Given the description of an element on the screen output the (x, y) to click on. 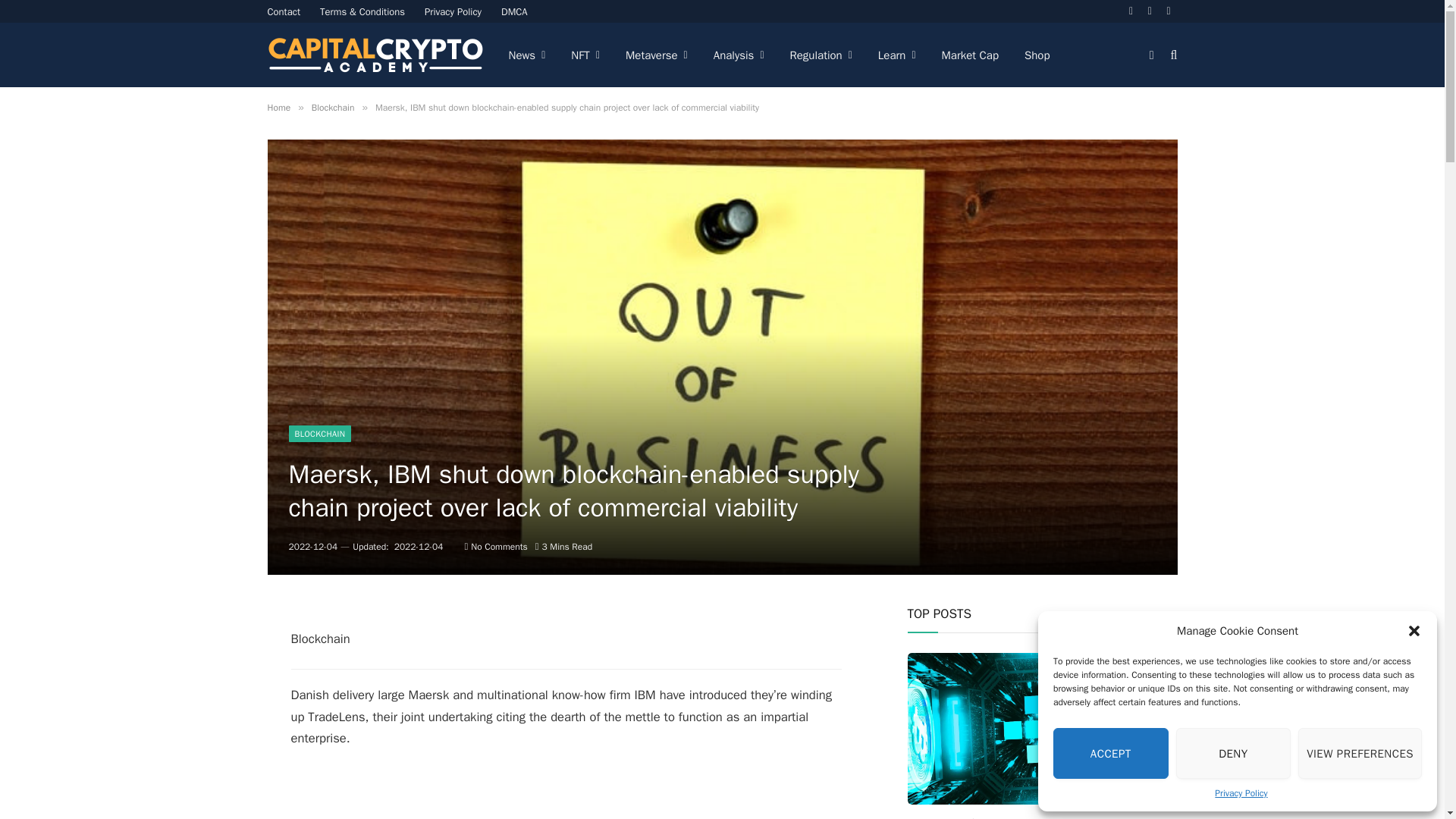
VIEW PREFERENCES (1360, 753)
Privacy Policy (453, 11)
DENY (1233, 753)
DMCA (514, 11)
Contact (284, 11)
ACCEPT (1110, 753)
capitalcryptoacademy (374, 54)
Privacy Policy (1240, 793)
